Given the description of an element on the screen output the (x, y) to click on. 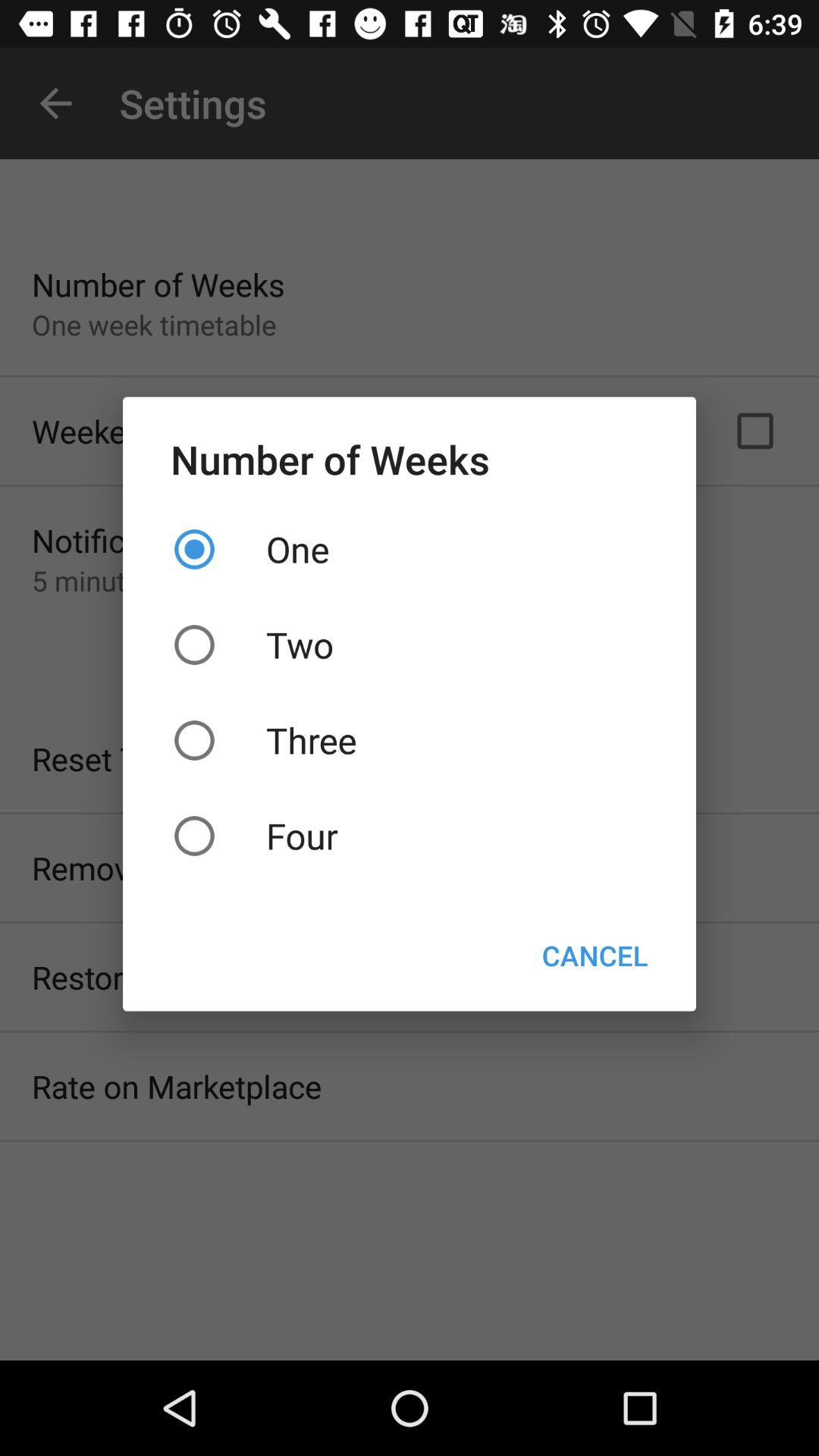
scroll until the cancel icon (595, 955)
